Given the description of an element on the screen output the (x, y) to click on. 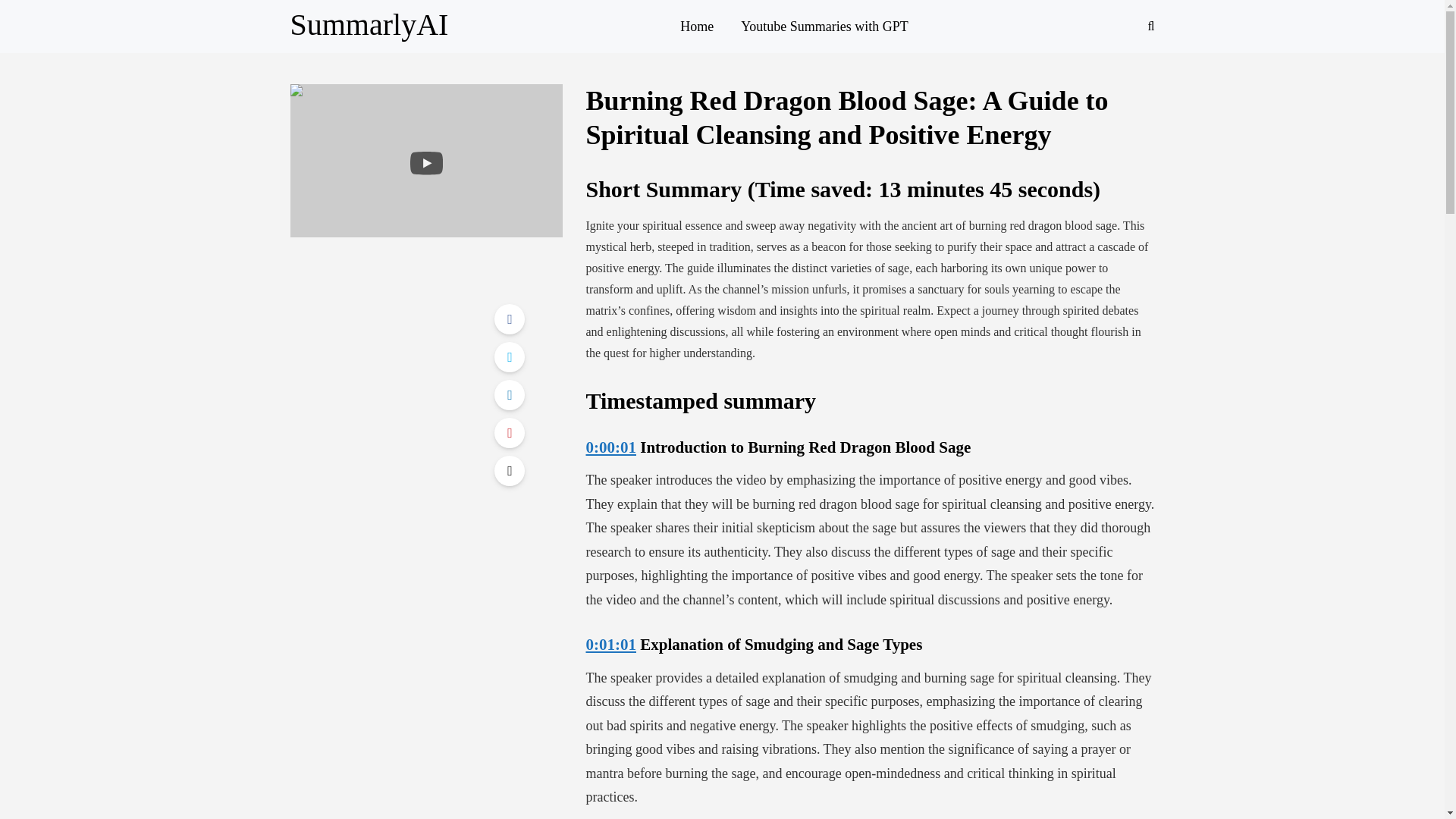
SummarlyAI (368, 24)
Share with LinkedIn (509, 395)
Home (696, 25)
0:00:01 (610, 447)
Share with Facebook (509, 318)
Tweet this (509, 357)
0:01:01 (610, 644)
Pin this (509, 432)
Share by Email (509, 470)
Youtube Summaries with GPT (823, 25)
Search (43, 15)
